Given the description of an element on the screen output the (x, y) to click on. 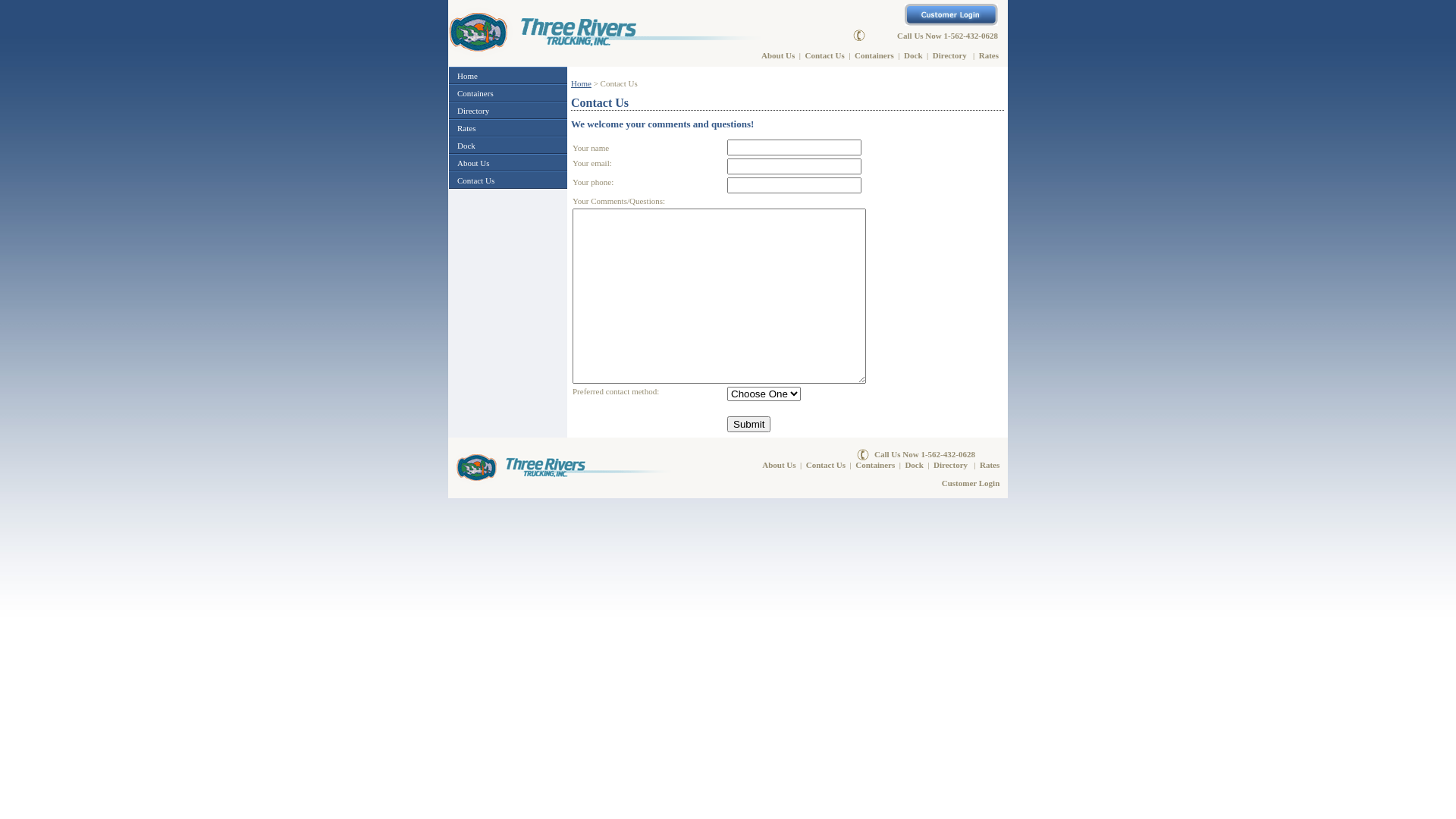
Home Element type: text (581, 82)
Directory Element type: text (473, 110)
Dock Element type: text (912, 54)
Dock Element type: text (913, 463)
Customer Login Element type: text (970, 481)
Directory Element type: text (950, 463)
Contact Us Element type: text (824, 54)
Containers Element type: text (874, 463)
About Us Element type: text (777, 54)
Rates Element type: text (466, 126)
Contact Us Element type: text (825, 463)
Rates Element type: text (988, 54)
Home Element type: text (467, 75)
Directory Element type: text (949, 54)
Submit Element type: text (748, 424)
Containers Element type: text (475, 92)
Dock Element type: text (466, 145)
Containers Element type: text (874, 54)
About Us Element type: text (778, 463)
Contact Us Element type: text (475, 180)
About Us Element type: text (473, 161)
Rates Element type: text (989, 463)
